Given the description of an element on the screen output the (x, y) to click on. 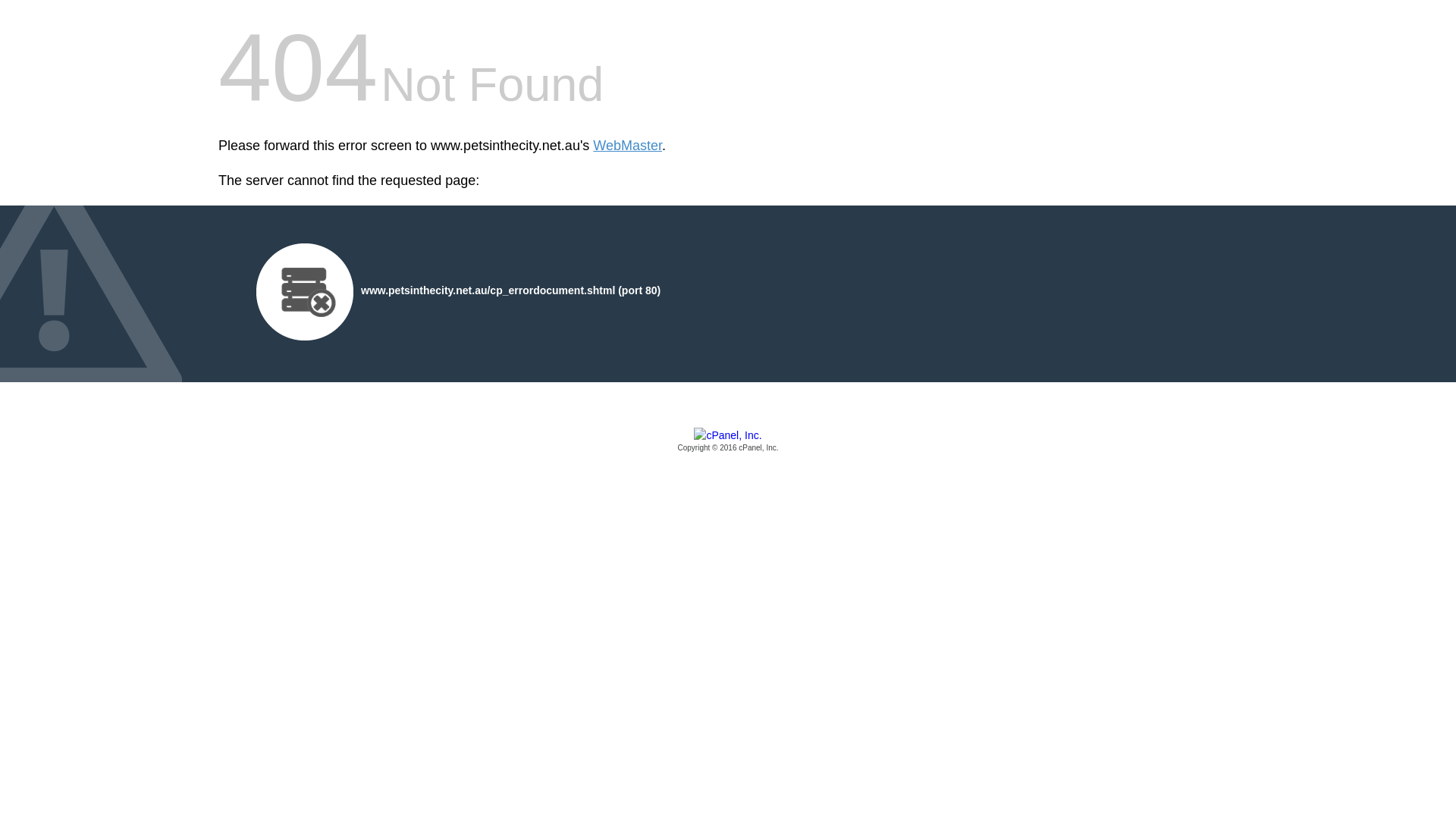
WebMaster Element type: text (627, 145)
